Given the description of an element on the screen output the (x, y) to click on. 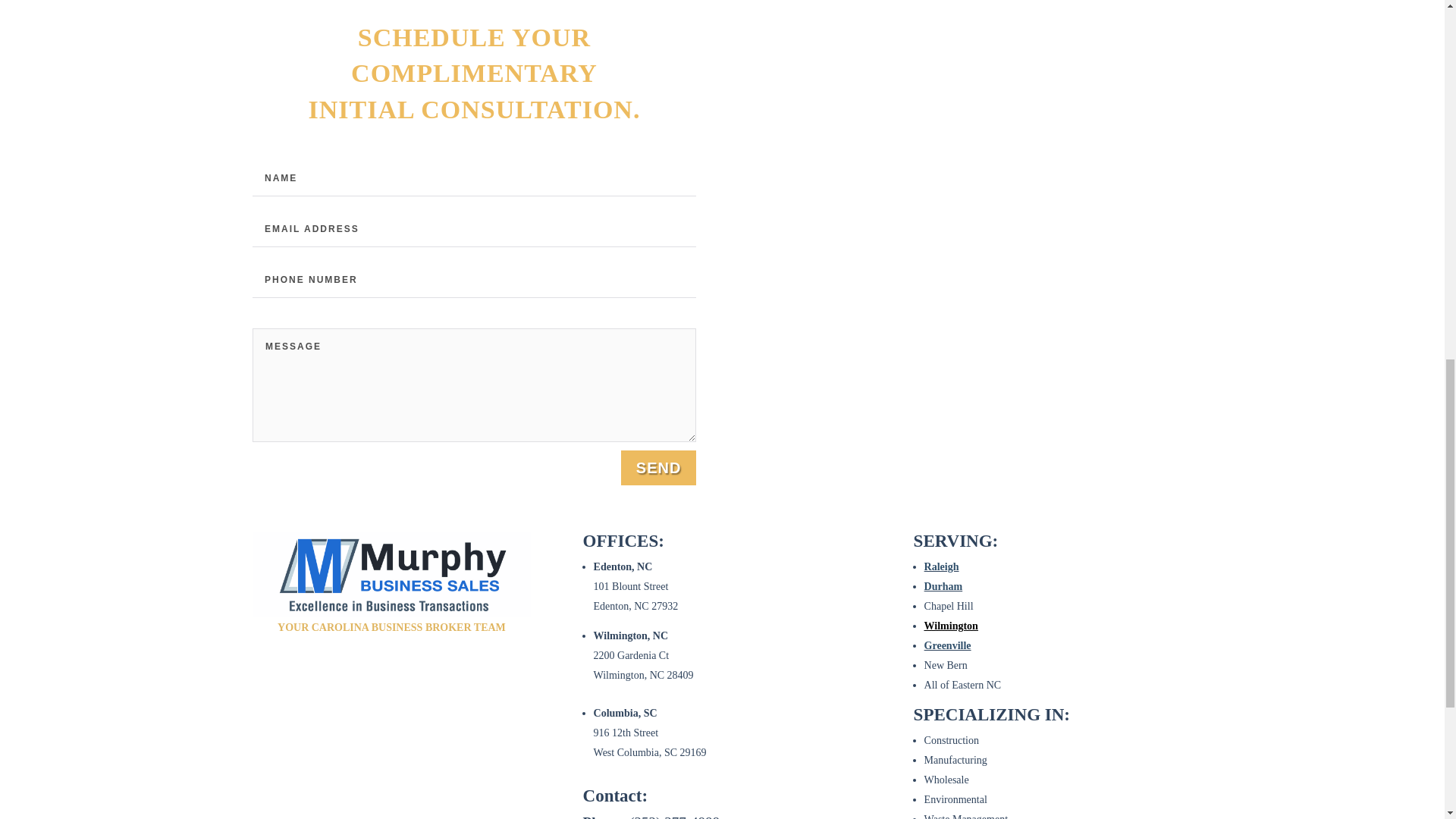
Greenville (947, 645)
Wilmington (951, 625)
Greenville (947, 645)
Durham (943, 586)
Raleigh (941, 566)
Durham (943, 586)
SEND (659, 467)
Murphy Brand Mark 1.8 (391, 574)
Raleigh (941, 566)
